Given the description of an element on the screen output the (x, y) to click on. 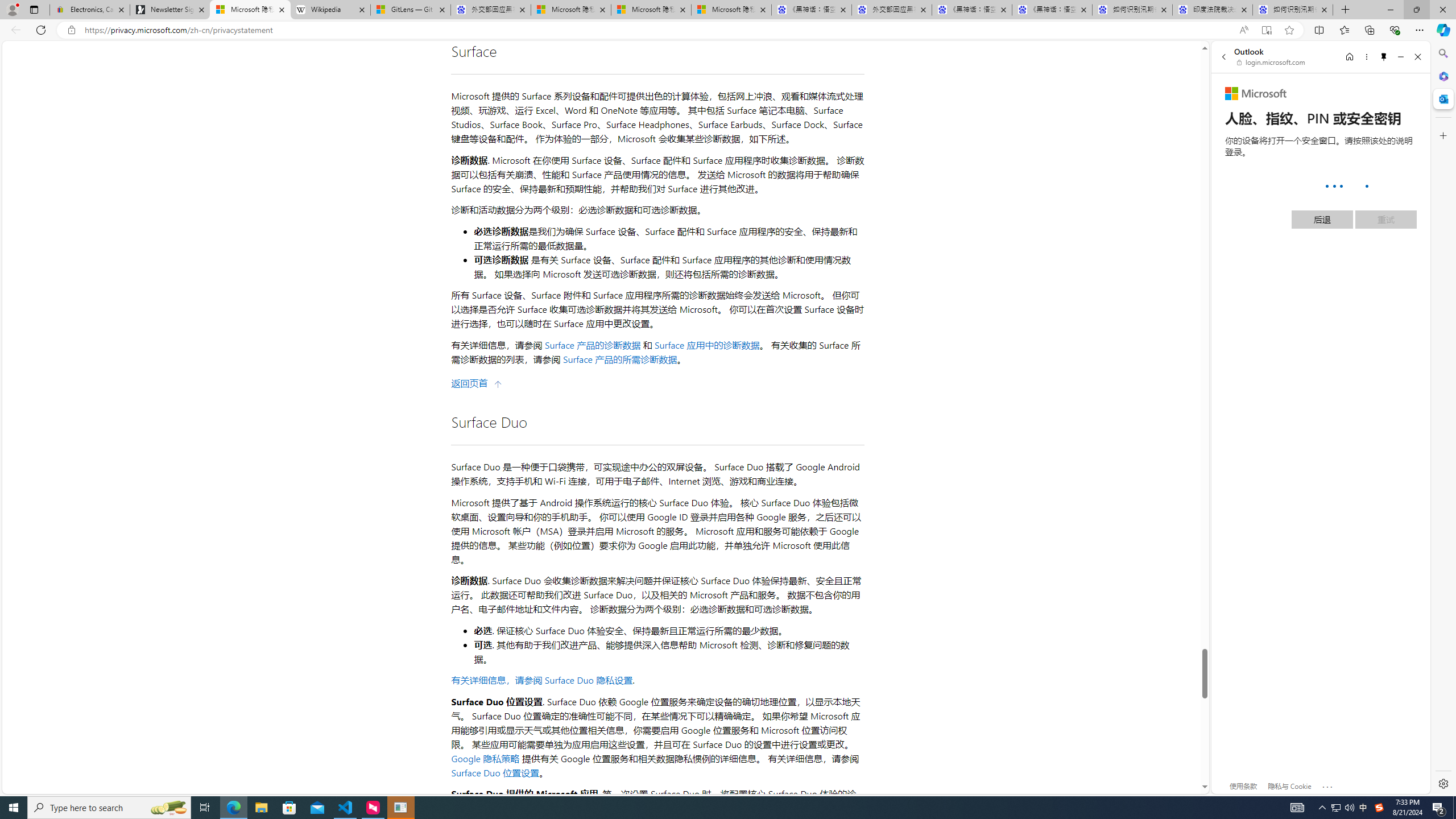
Microsoft (1255, 93)
